Given the description of an element on the screen output the (x, y) to click on. 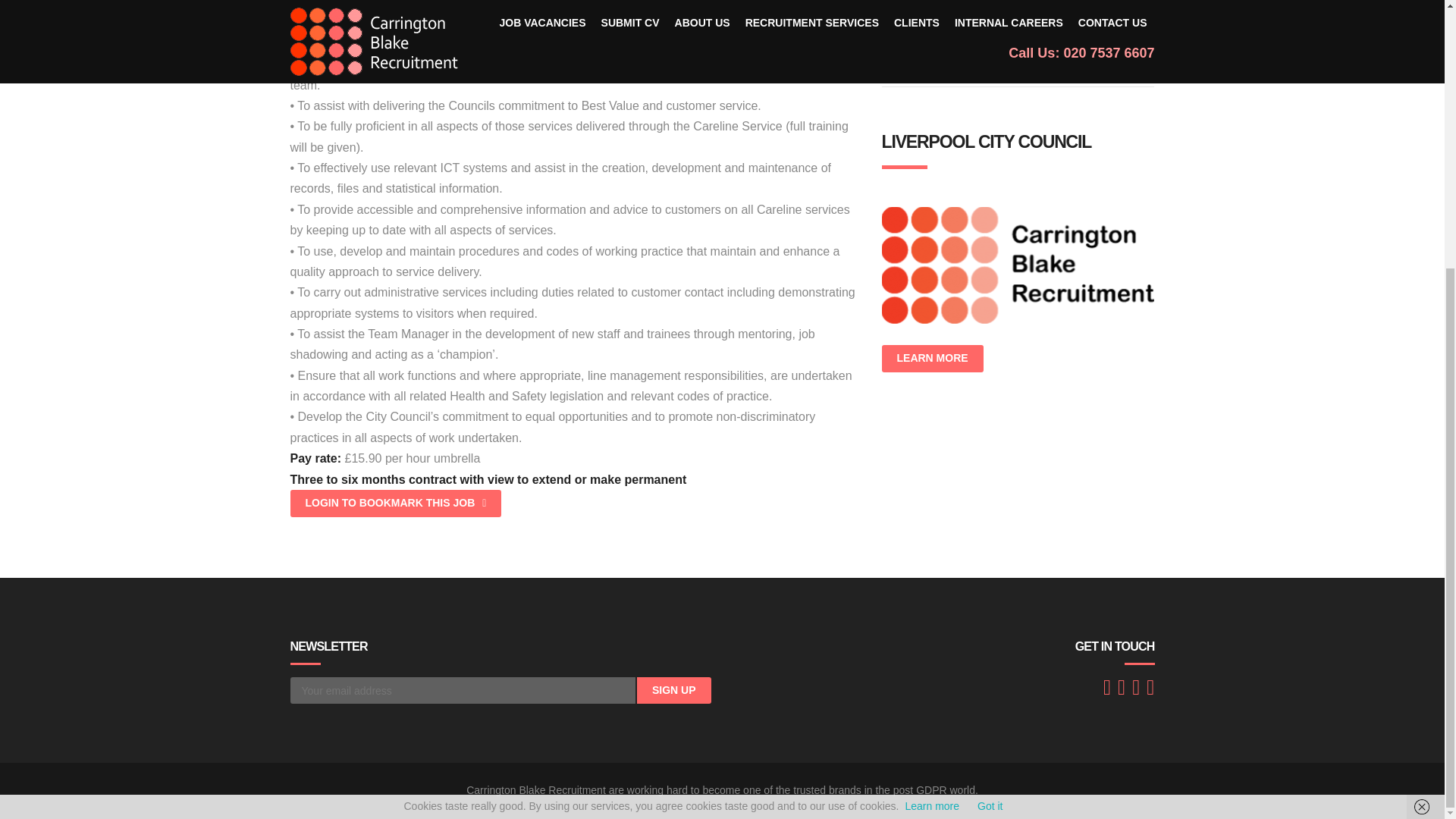
Click to share on Facebook (895, 20)
LOGIN TO BOOKMARK THIS JOB (394, 502)
LEARN MORE (931, 358)
Click to share on LinkedIn (933, 20)
Sign up (674, 690)
Sign up (674, 690)
Click to share on Twitter (971, 20)
